Given the description of an element on the screen output the (x, y) to click on. 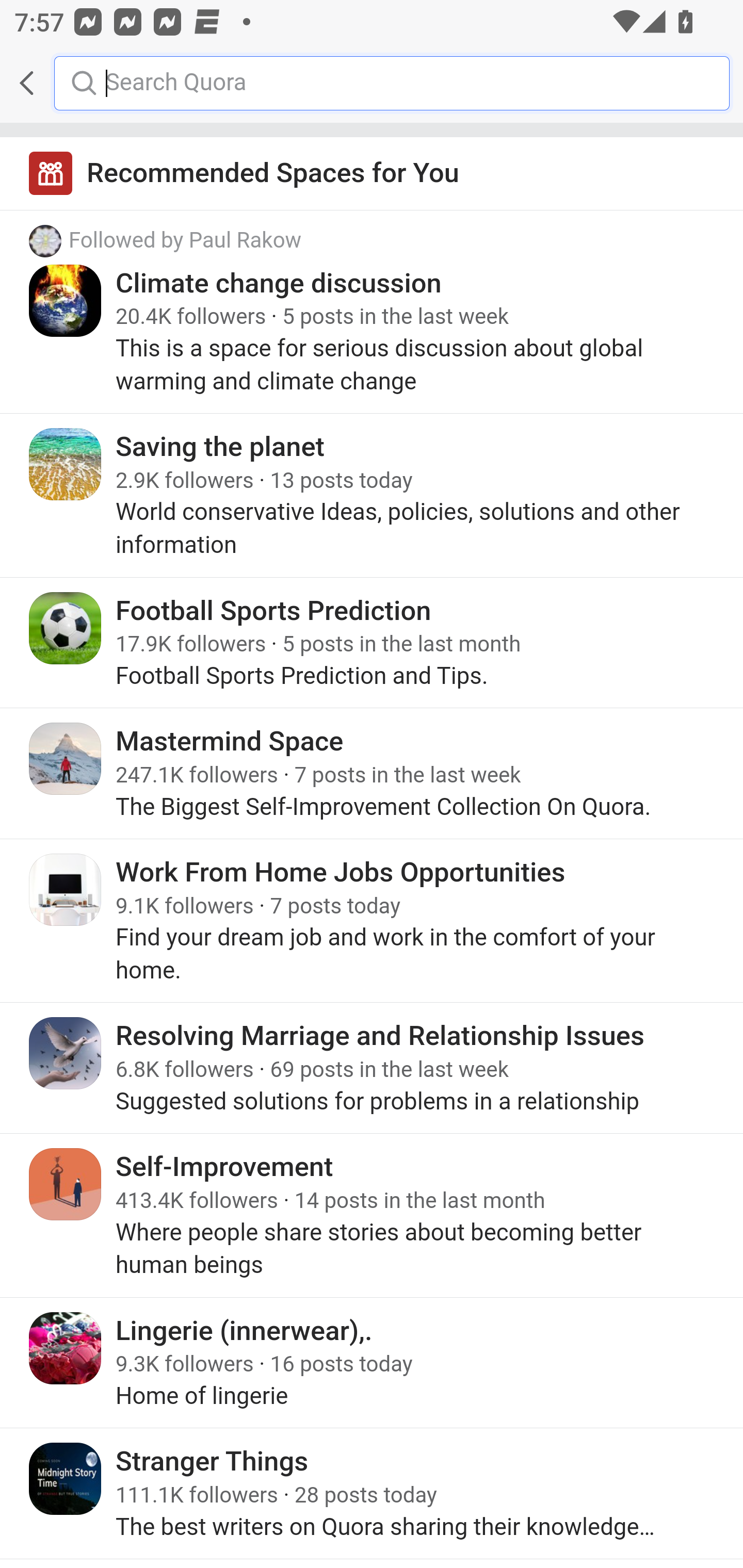
Me Home Search Add (371, 82)
Icon for Climate change discussion (65, 300)
Icon for Saving the planet (65, 464)
Icon for Football Sports Prediction (65, 627)
Icon for Mastermind Space (65, 759)
Icon for Work From Home Jobs Opportunities (65, 889)
Icon for Self-Improvement (65, 1184)
Icon for Lingerie (innerwear),. (65, 1347)
Icon for Stranger Things (65, 1479)
